Given the description of an element on the screen output the (x, y) to click on. 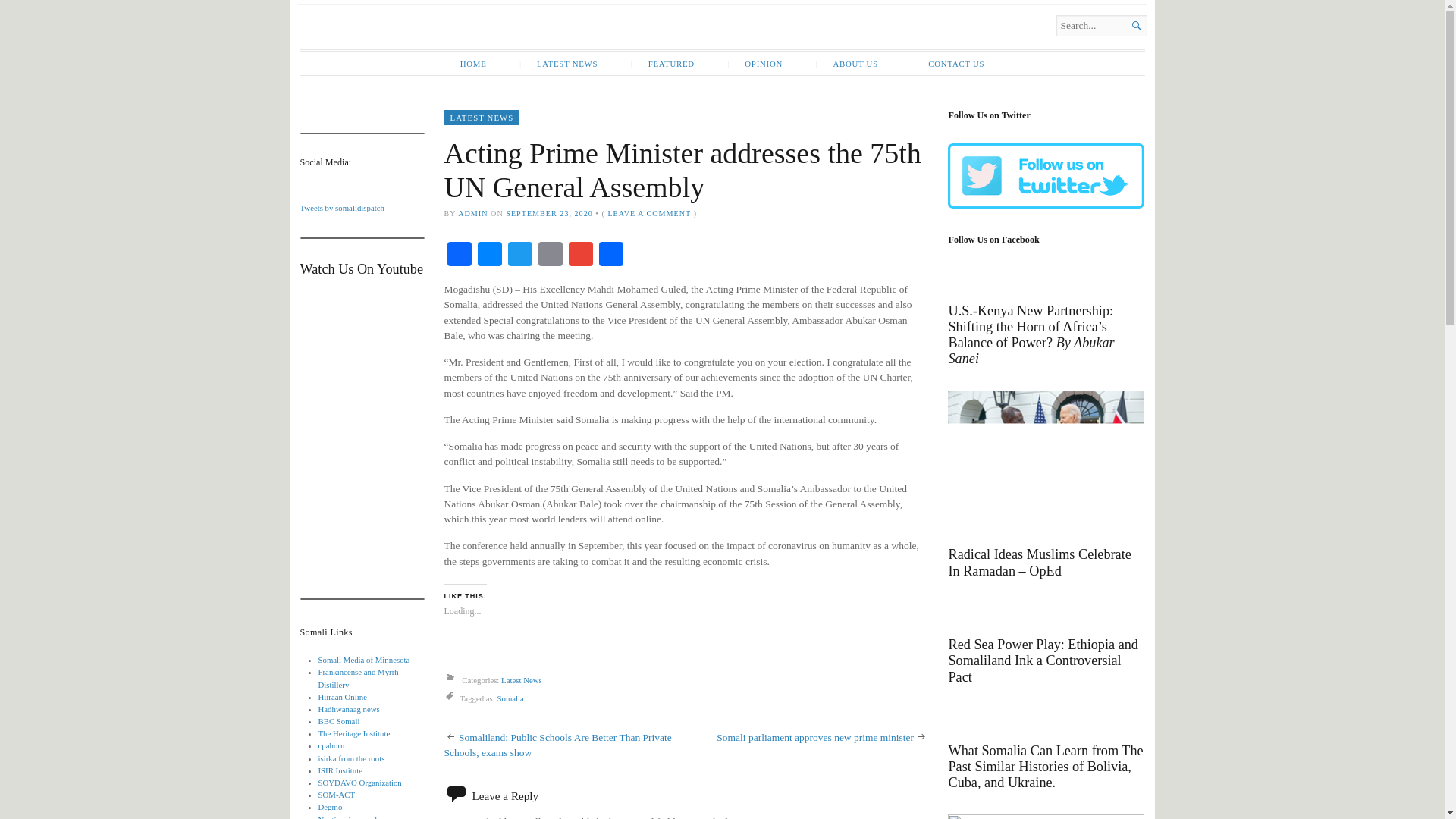
cpahorn (331, 745)
FEATURED (662, 63)
ABOUT US (845, 63)
Messenger (489, 255)
Email (550, 255)
SOM-ACT (336, 794)
Home (463, 44)
Gmail (580, 255)
LATEST NEWS (481, 117)
Somali Dispatch (463, 44)
